Given the description of an element on the screen output the (x, y) to click on. 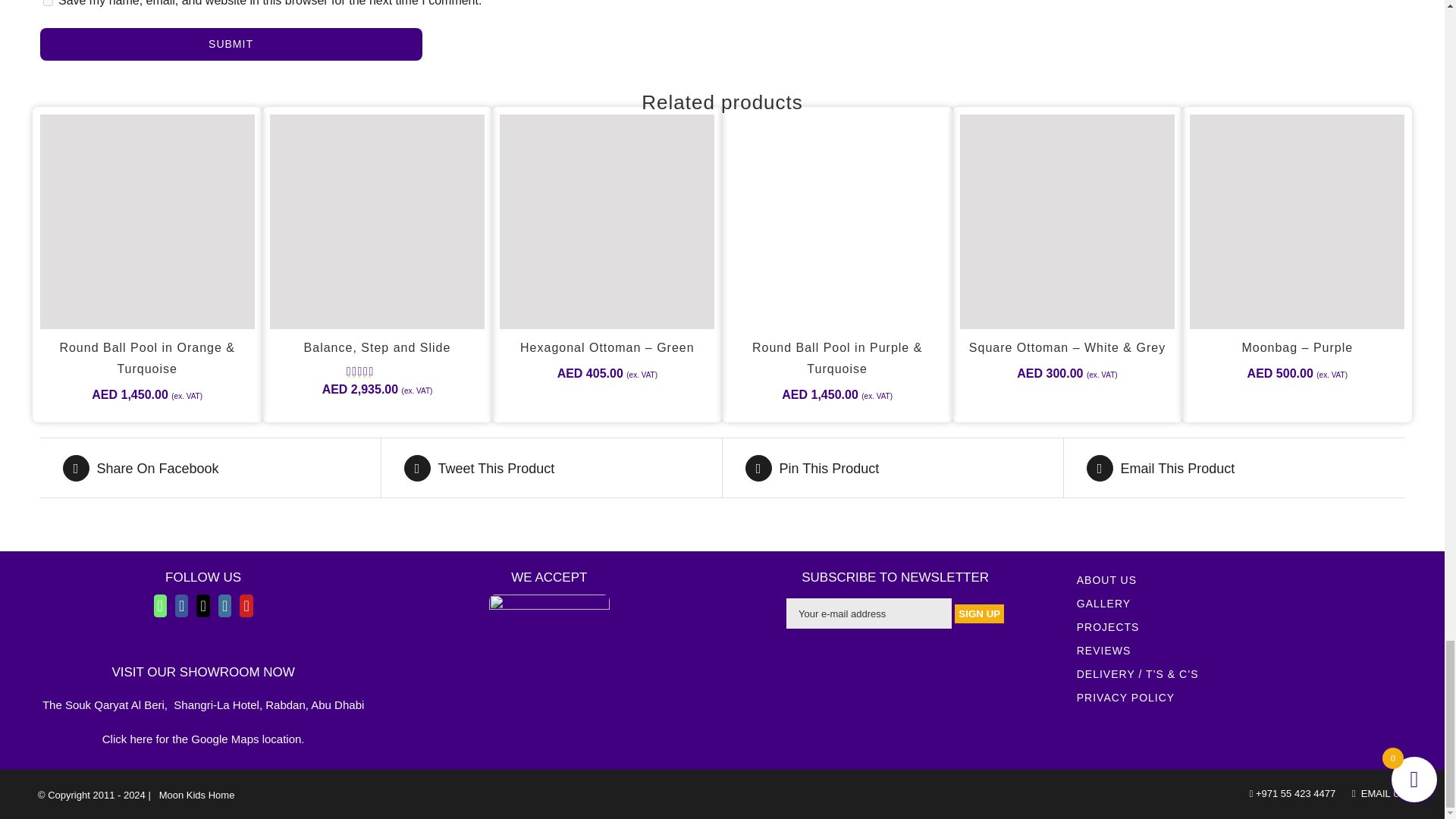
SIGN UP (979, 613)
yes (47, 2)
Submit (230, 43)
